Given the description of an element on the screen output the (x, y) to click on. 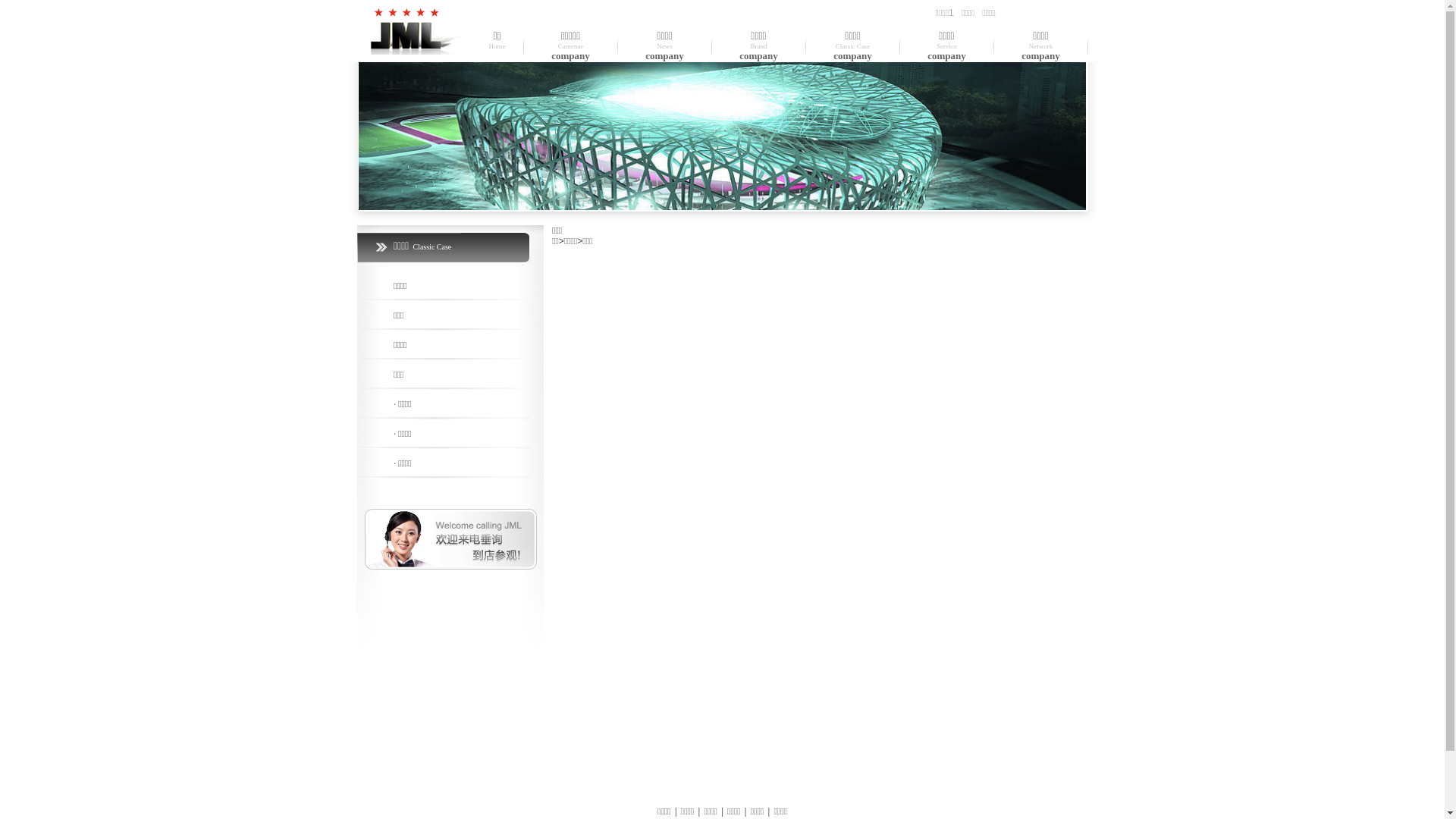
company Element type: text (852, 46)
company Element type: text (946, 46)
company Element type: text (1040, 46)
company Element type: text (758, 46)
company Element type: text (570, 46)
company Element type: text (664, 46)
